Given the description of an element on the screen output the (x, y) to click on. 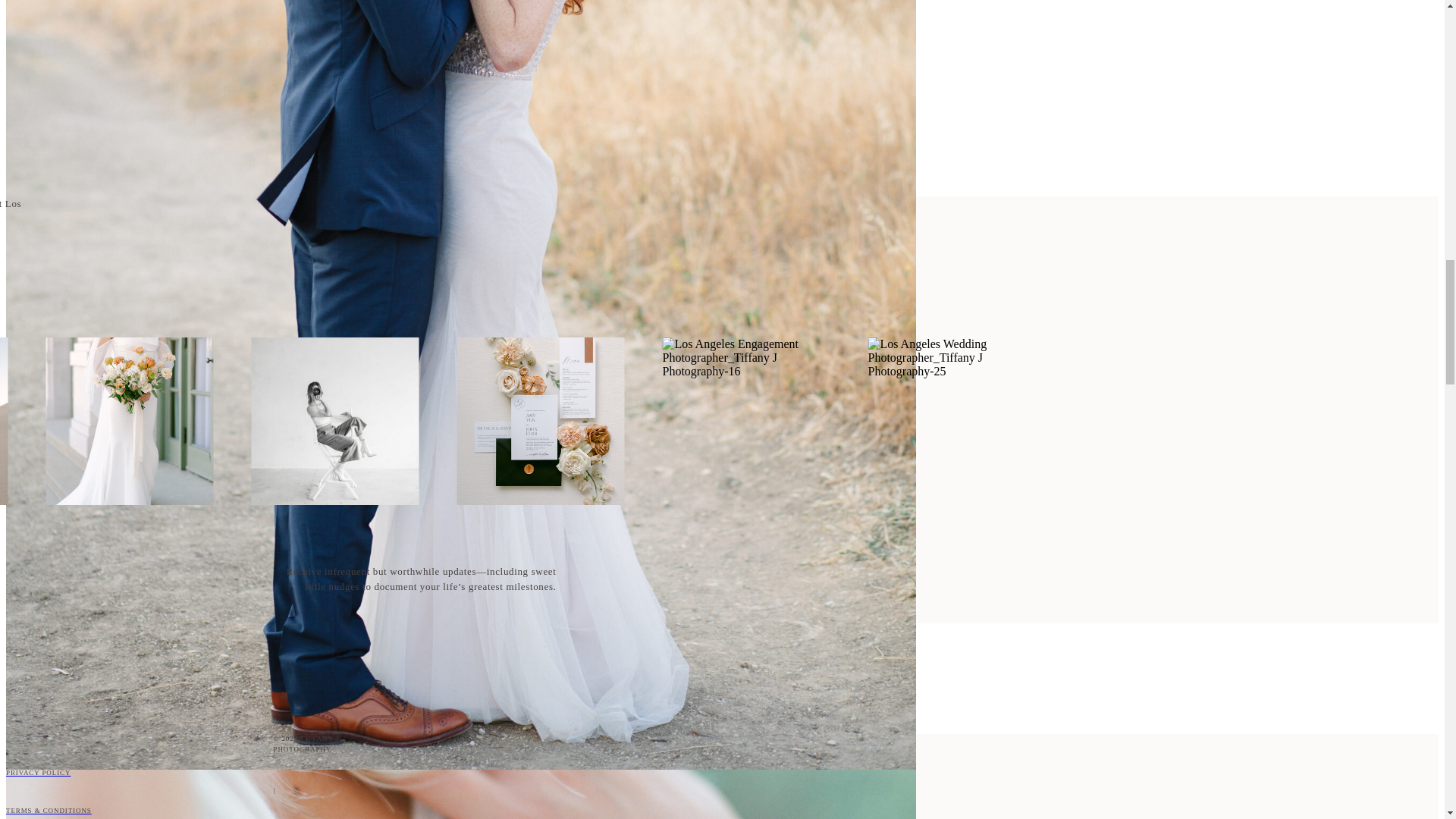
TiffanyJPhotography-Branding-10 (335, 421)
PRIVACY POLICY (460, 773)
Joshua Tree Wedding Inspiration (460, 54)
